Given the description of an element on the screen output the (x, y) to click on. 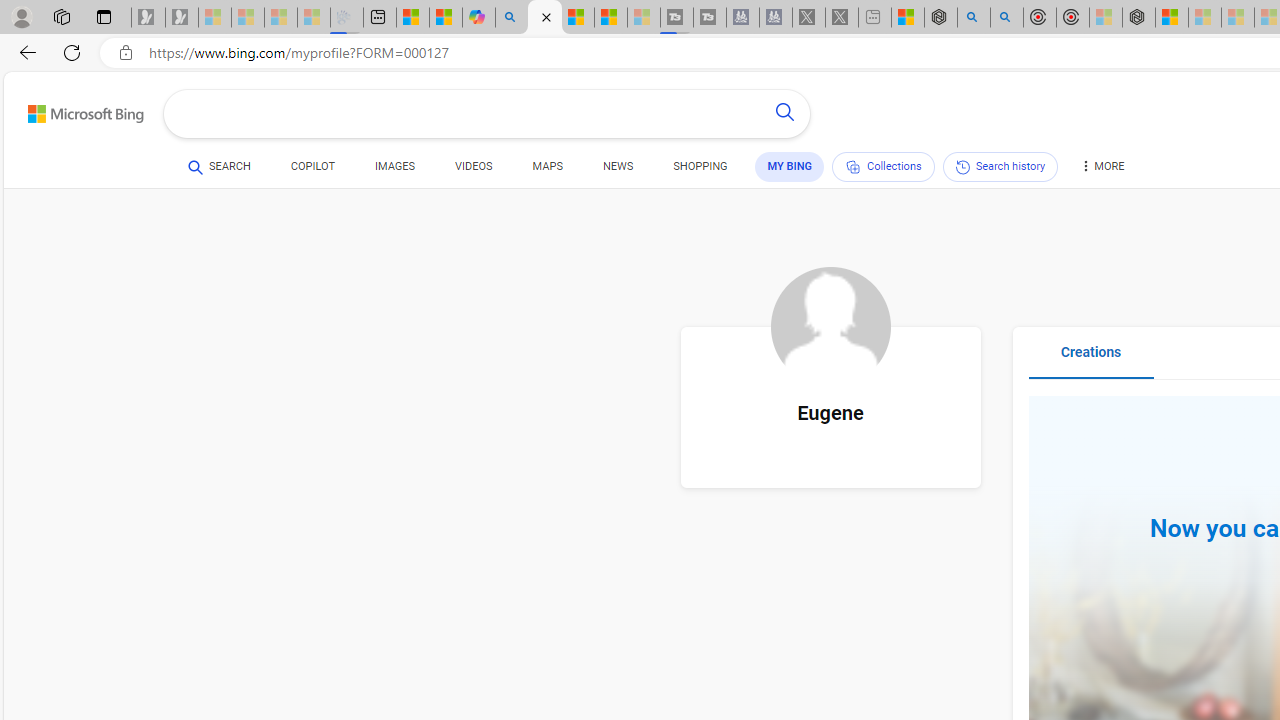
MORE (1101, 169)
Class: b_pri_nav_svg (852, 167)
SEARCH (219, 166)
MY BING (789, 167)
Back to Bing search (73, 110)
Creations (1090, 360)
IMAGES (394, 169)
MAPS (546, 166)
NEWS (618, 169)
